Given the description of an element on the screen output the (x, y) to click on. 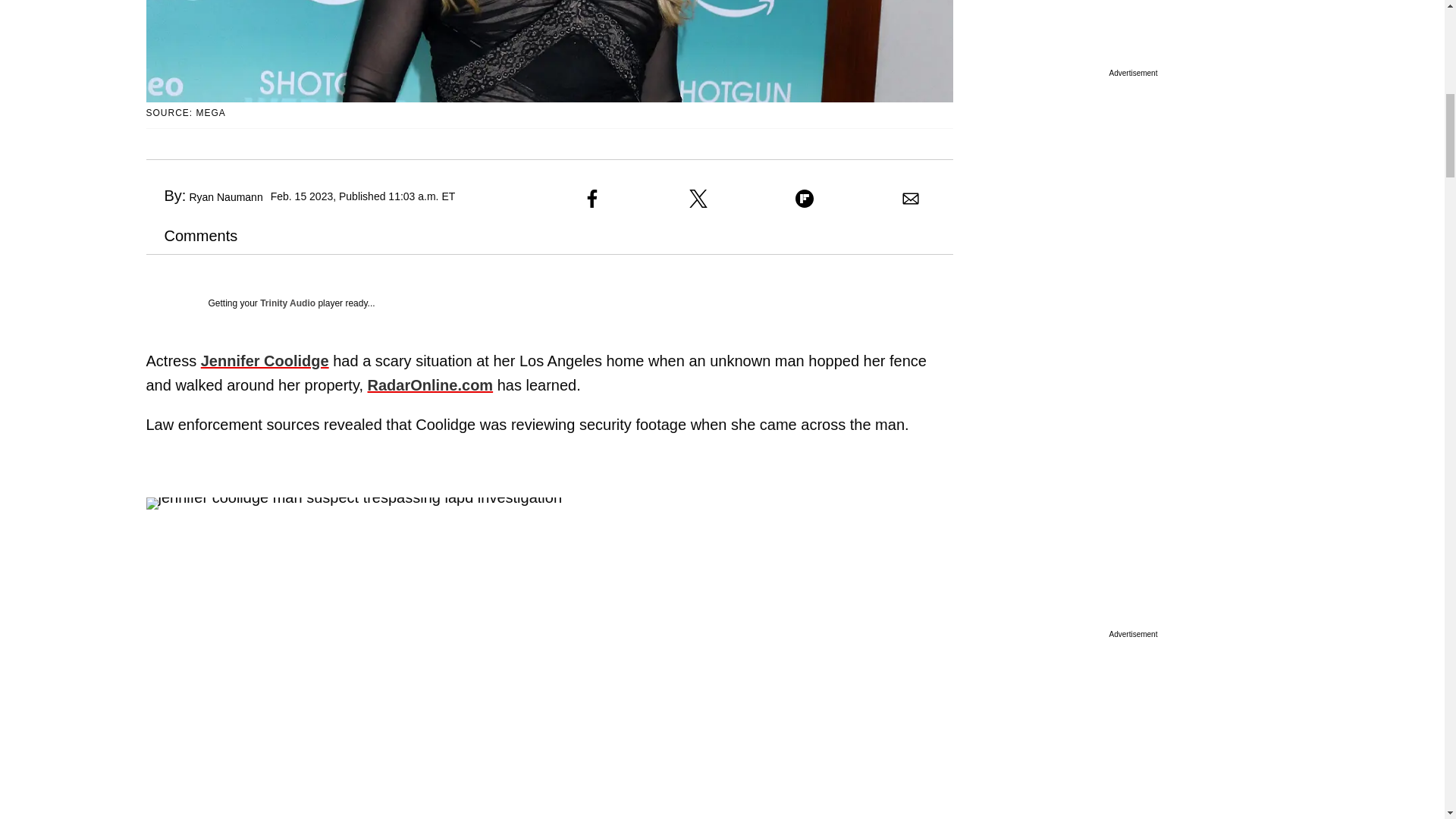
Jennifer Coolidge (264, 360)
Share to X (697, 198)
RadarOnline.com (430, 384)
Comments (191, 235)
Share to Flipboard (803, 198)
Share to Facebook (590, 198)
Trinity Audio (287, 303)
Ryan Naumann (225, 196)
Share to Email (909, 198)
